Given the description of an element on the screen output the (x, y) to click on. 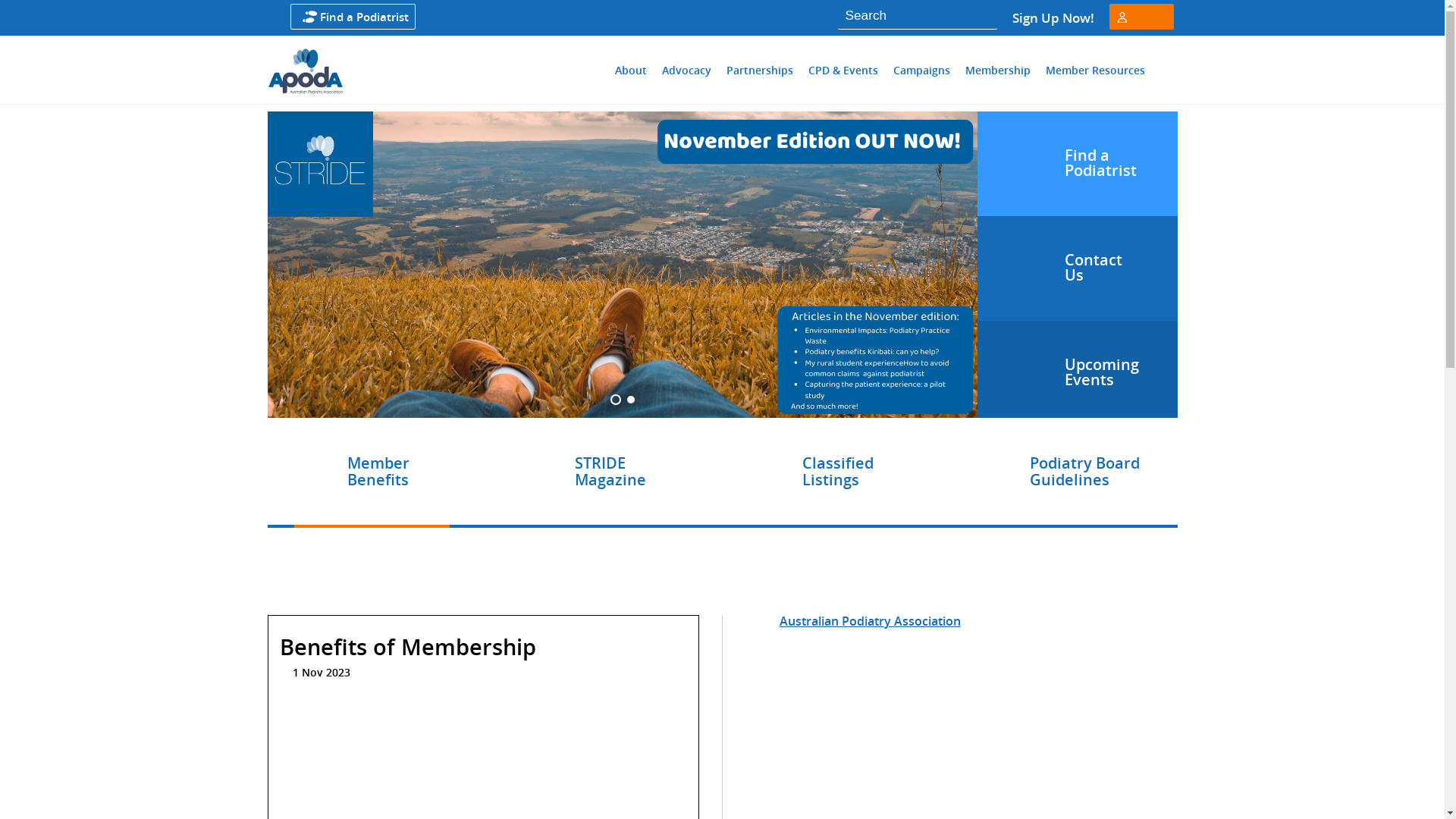
Advocacy Element type: text (686, 70)
About Element type: text (630, 70)
Partnerships Element type: text (758, 70)
Find a Podiatrist Element type: text (1076, 163)
Australian Podiatry Association Element type: text (869, 620)
Campaigns Element type: text (920, 70)
Search Element type: text (975, 15)
Sign Up Now! Element type: text (1052, 18)
Classified Listings Element type: text (837, 470)
Find a Podiatrist Element type: text (364, 17)
Contact Us Element type: text (1076, 268)
Podiatry Board Guidelines Element type: text (1084, 470)
Member Benefits Element type: text (378, 470)
 Login Element type: text (1136, 43)
CPD & Events Element type: text (842, 70)
STRIDE Magazine Element type: text (610, 470)
Membership Element type: text (997, 70)
Member Resources Element type: text (1094, 70)
Upcoming Events Element type: text (1076, 368)
